Given the description of an element on the screen output the (x, y) to click on. 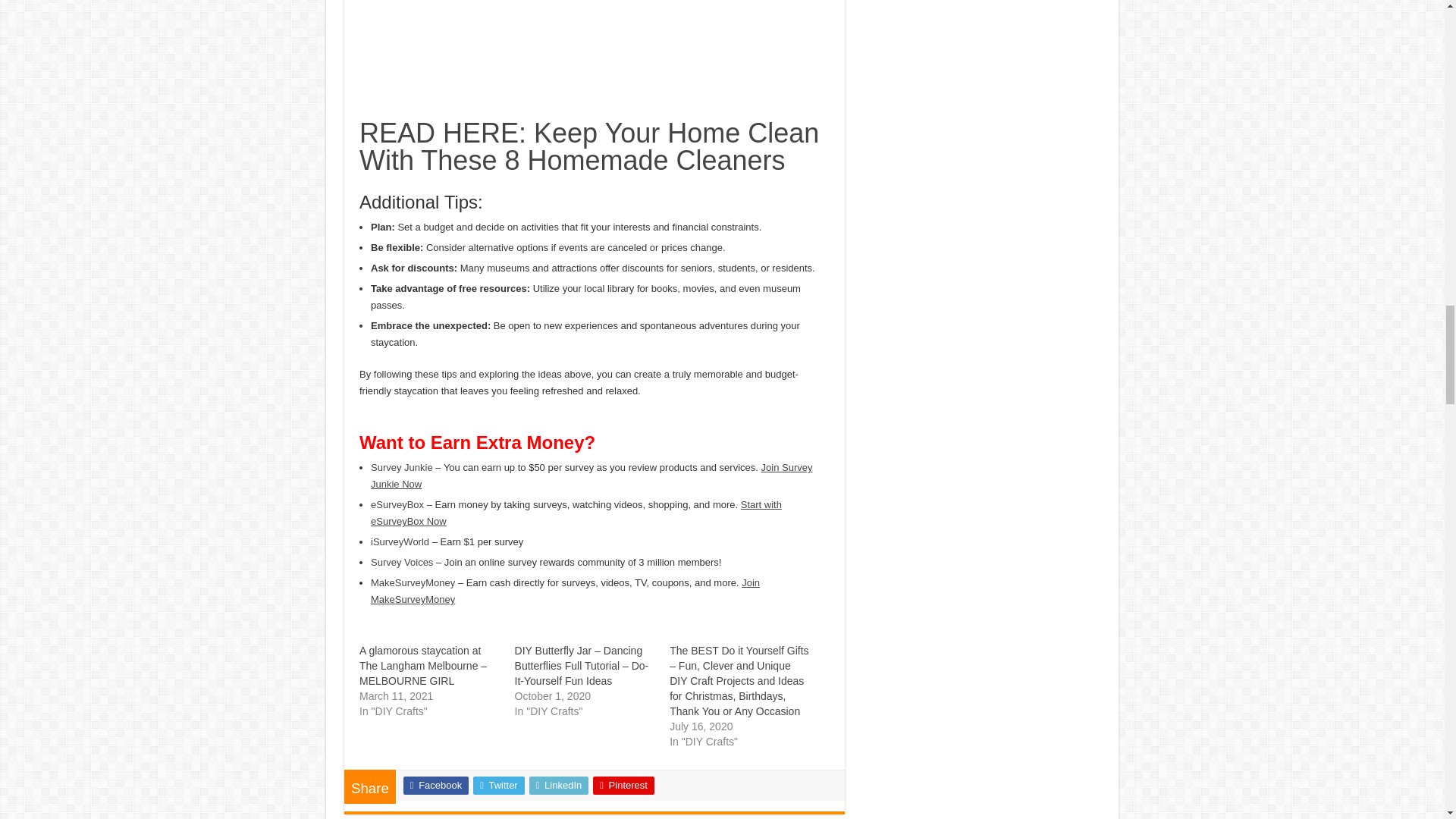
Survey Voices (401, 562)
Start with eSurveyBox Now (576, 512)
Survey Junkie (401, 467)
iSurveyWorld (400, 541)
Join Survey Junkie Now (591, 475)
eSurveyBox (397, 504)
